Given the description of an element on the screen output the (x, y) to click on. 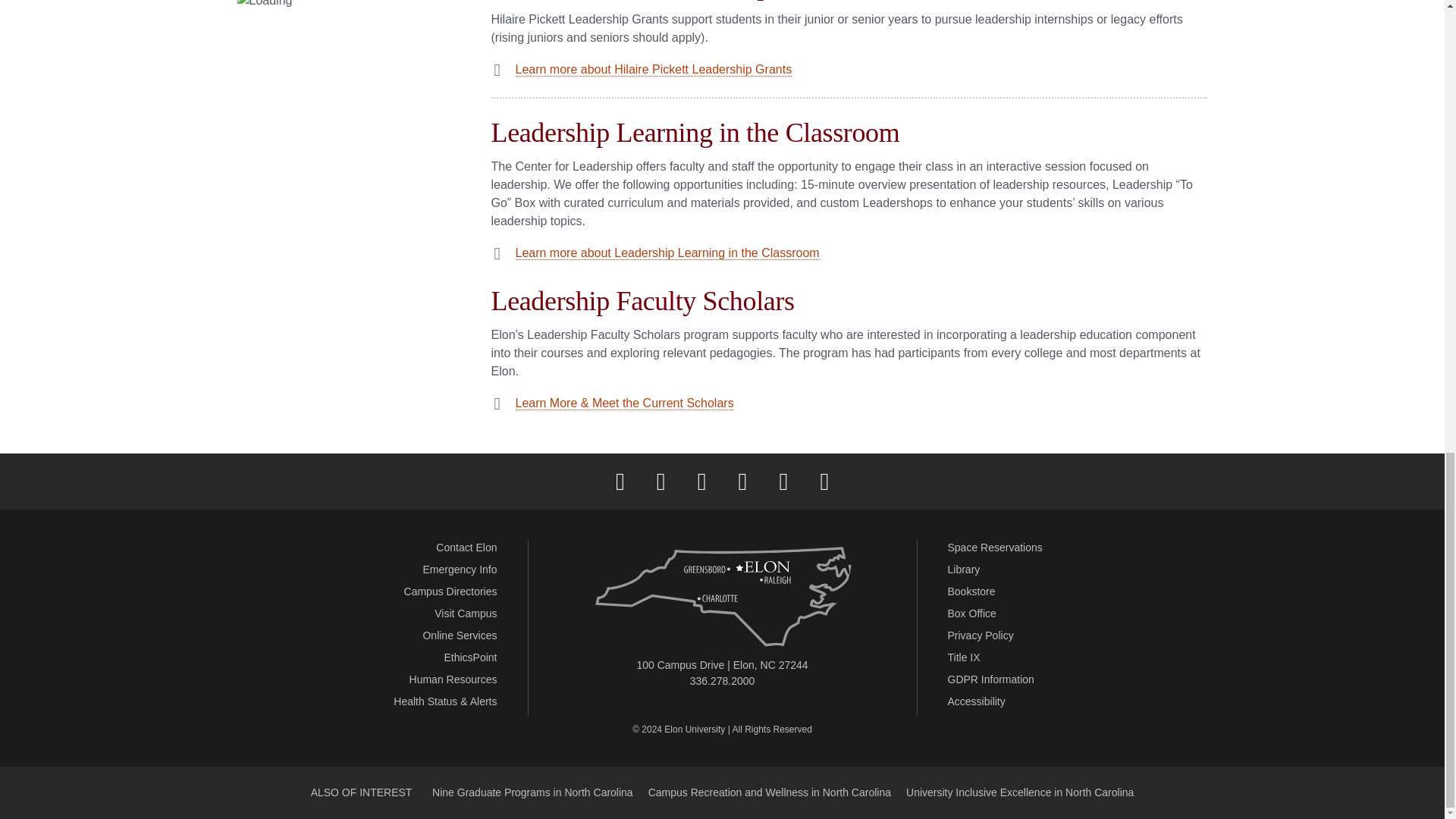
LinkedIn (742, 481)
YouTube (783, 481)
Instagram (701, 481)
Facebook (620, 481)
Learn more about Hilaire Pickett Leadership Grants (653, 69)
Learn more about Leadership Learning in the Classroom (667, 253)
Full Social Media List (824, 481)
